Given the description of an element on the screen output the (x, y) to click on. 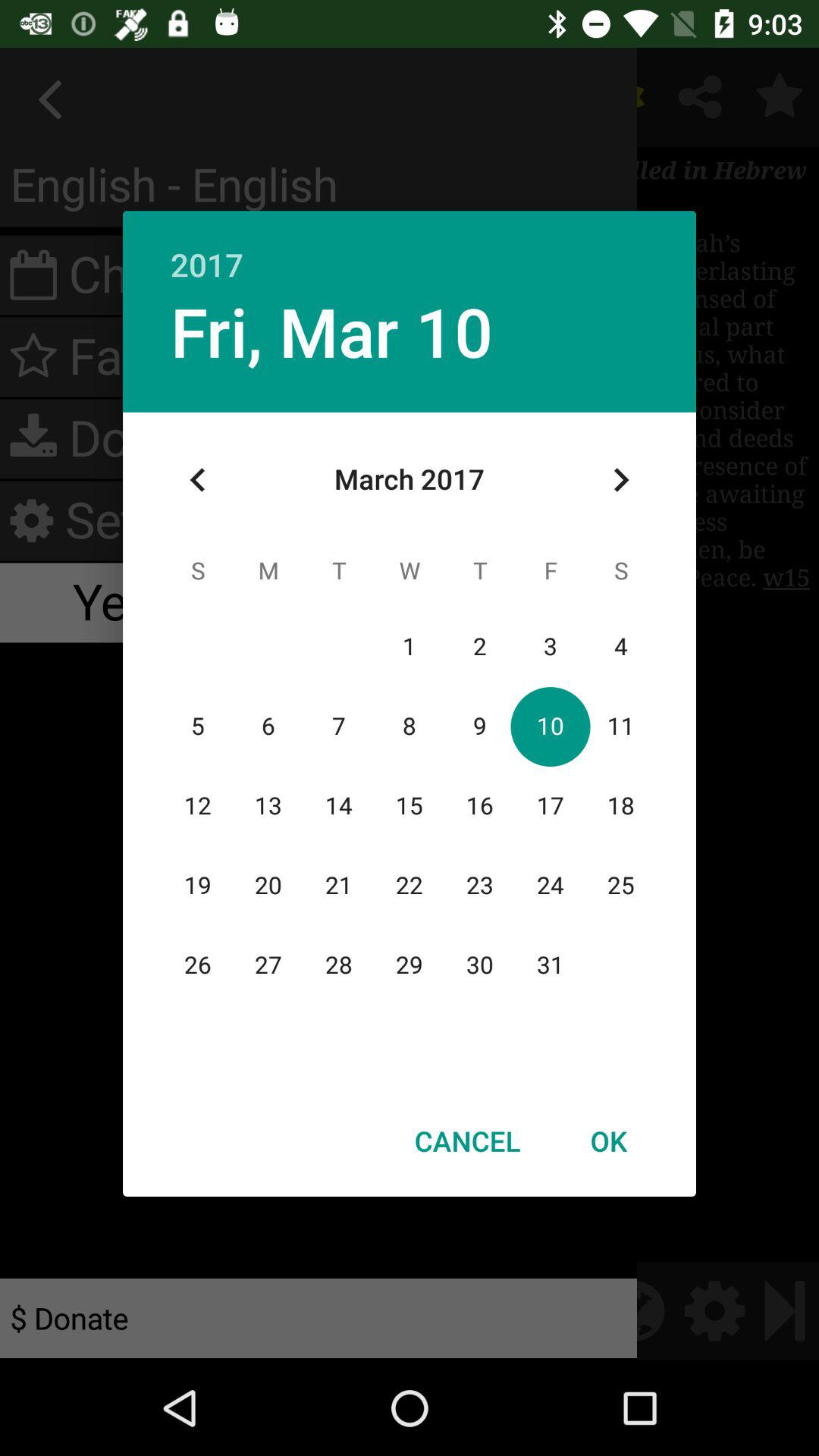
choose icon above fri, mar 10 app (409, 248)
